Given the description of an element on the screen output the (x, y) to click on. 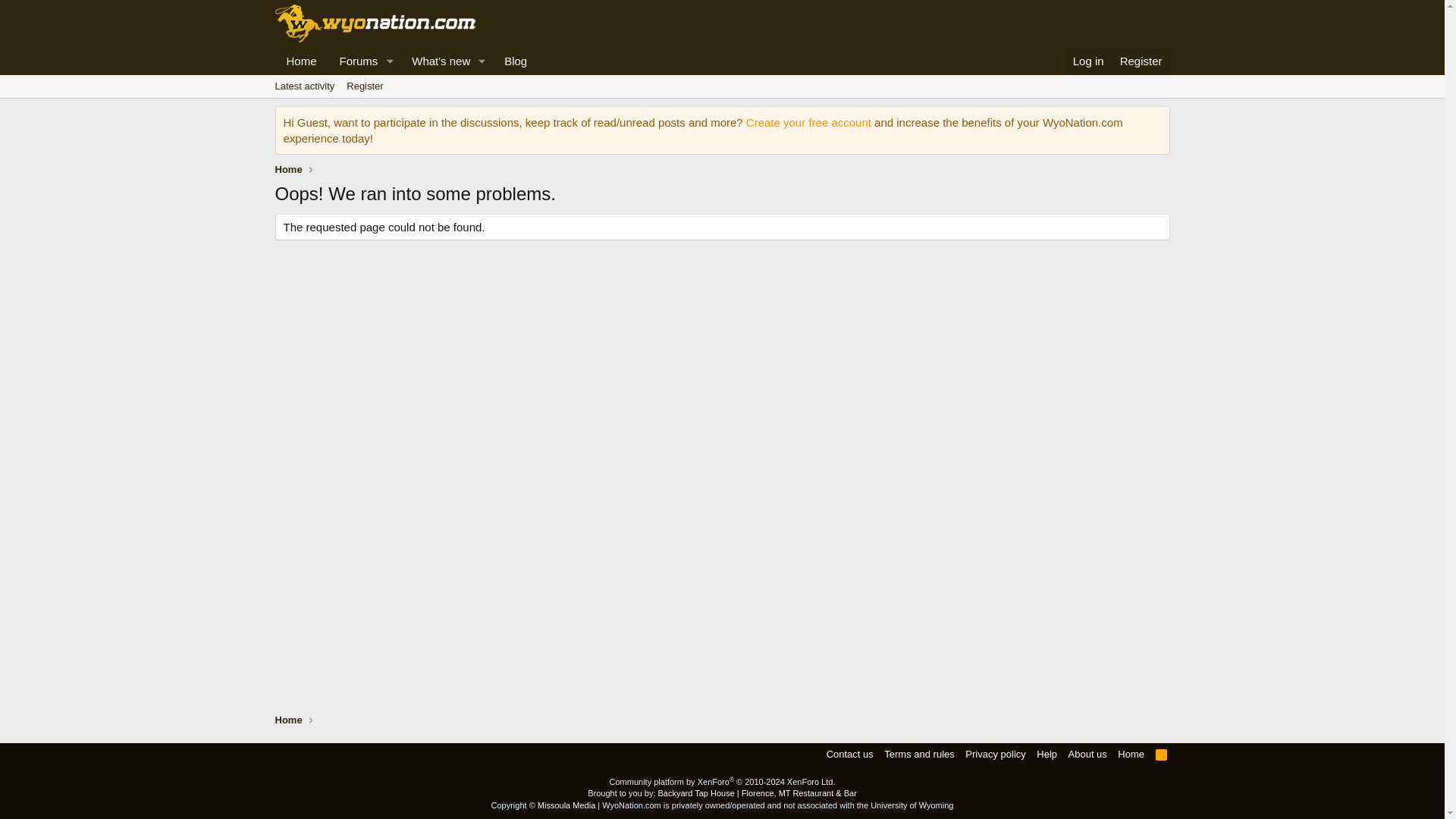
Log in (1088, 60)
Register (720, 103)
Latest activity (1141, 60)
Register (303, 86)
RSS (364, 86)
Forums (1161, 753)
Privacy policy (354, 60)
What's new (994, 753)
Home (406, 60)
Home (435, 60)
Contact us (287, 720)
Terms and rules (1131, 753)
Help (850, 753)
